Given the description of an element on the screen output the (x, y) to click on. 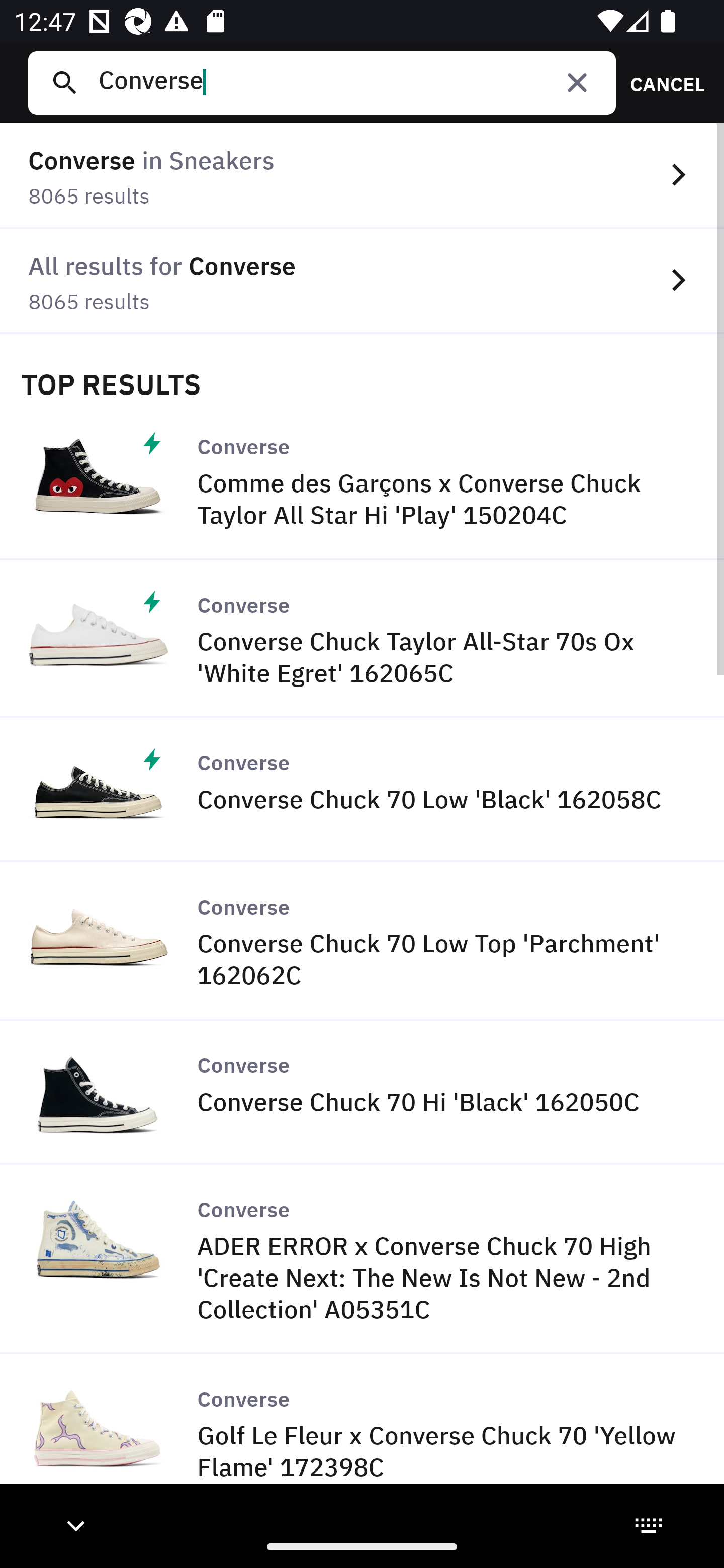
CANCEL (660, 82)
Converse (349, 82)
 (577, 82)
Converse  in Sneakers 8065 results  (362, 175)
All results for  Converse 8065 results  (362, 280)
 Converse Converse Chuck 70 Low 'Black' 162058C (362, 790)
Converse Converse Chuck 70 Hi 'Black' 162050C (362, 1092)
